Given the description of an element on the screen output the (x, y) to click on. 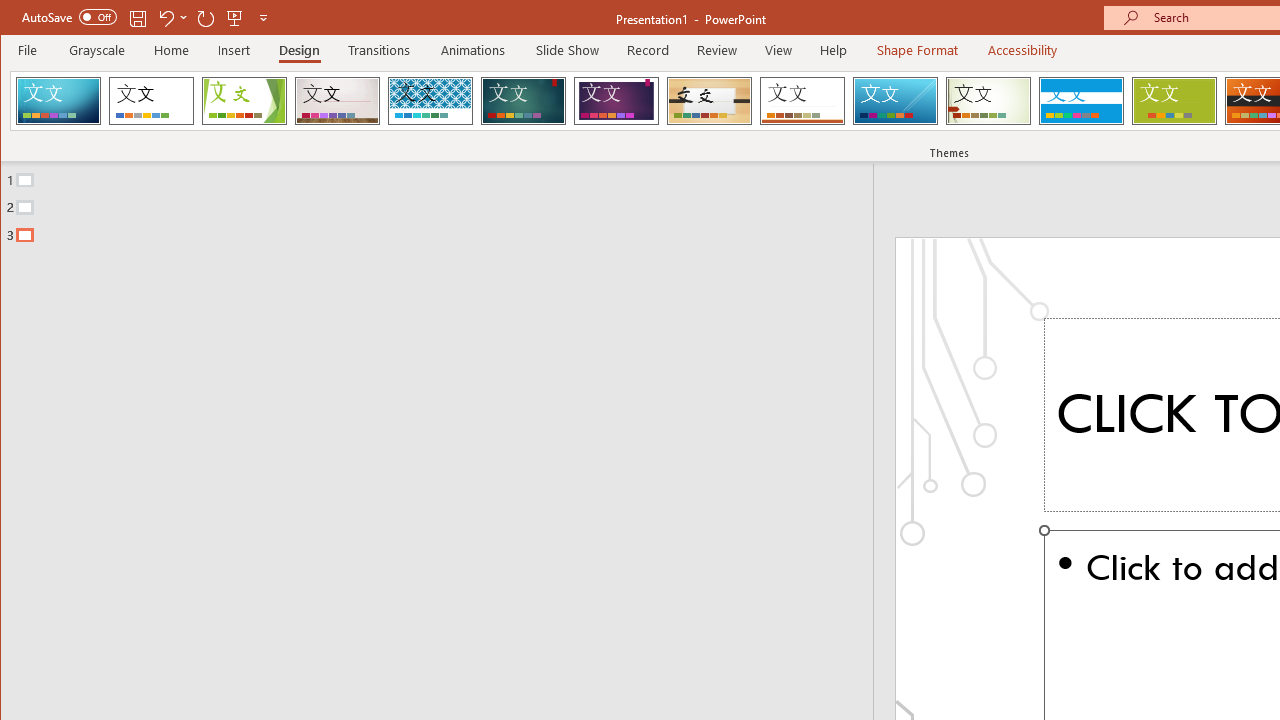
Gallery (337, 100)
Save (138, 17)
Wisp (988, 100)
Help (833, 50)
Slice (895, 100)
Ion (523, 100)
View (779, 50)
Animations (473, 50)
Design (299, 50)
Undo (171, 17)
Record (648, 50)
Home (171, 50)
Integral (430, 100)
Basis (1174, 100)
Redo (206, 17)
